Given the description of an element on the screen output the (x, y) to click on. 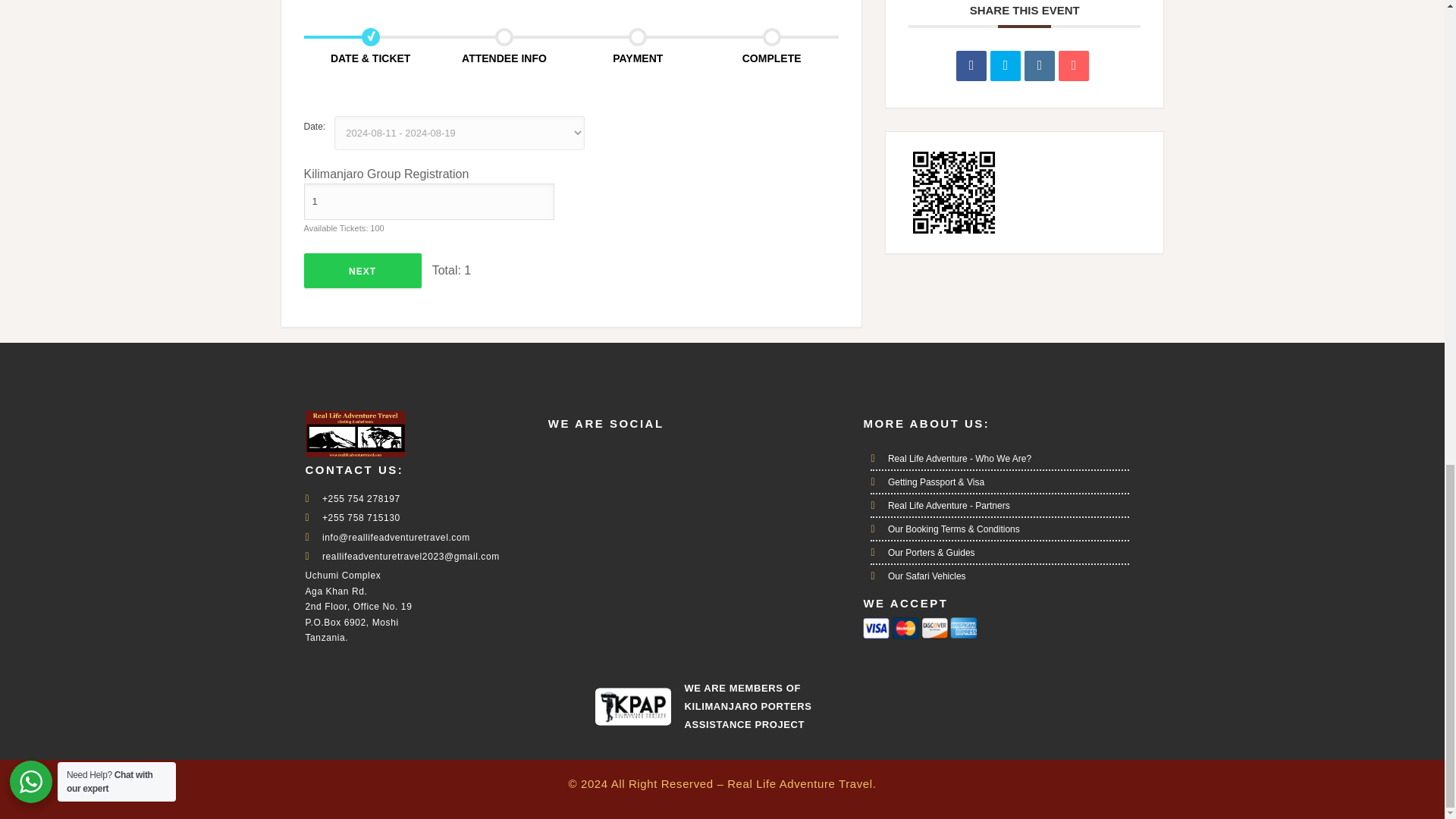
Linkedin (1039, 65)
Count (427, 201)
Share on Facebook (971, 65)
Email (1073, 65)
Tweet (1005, 65)
1 (427, 201)
